Given the description of an element on the screen output the (x, y) to click on. 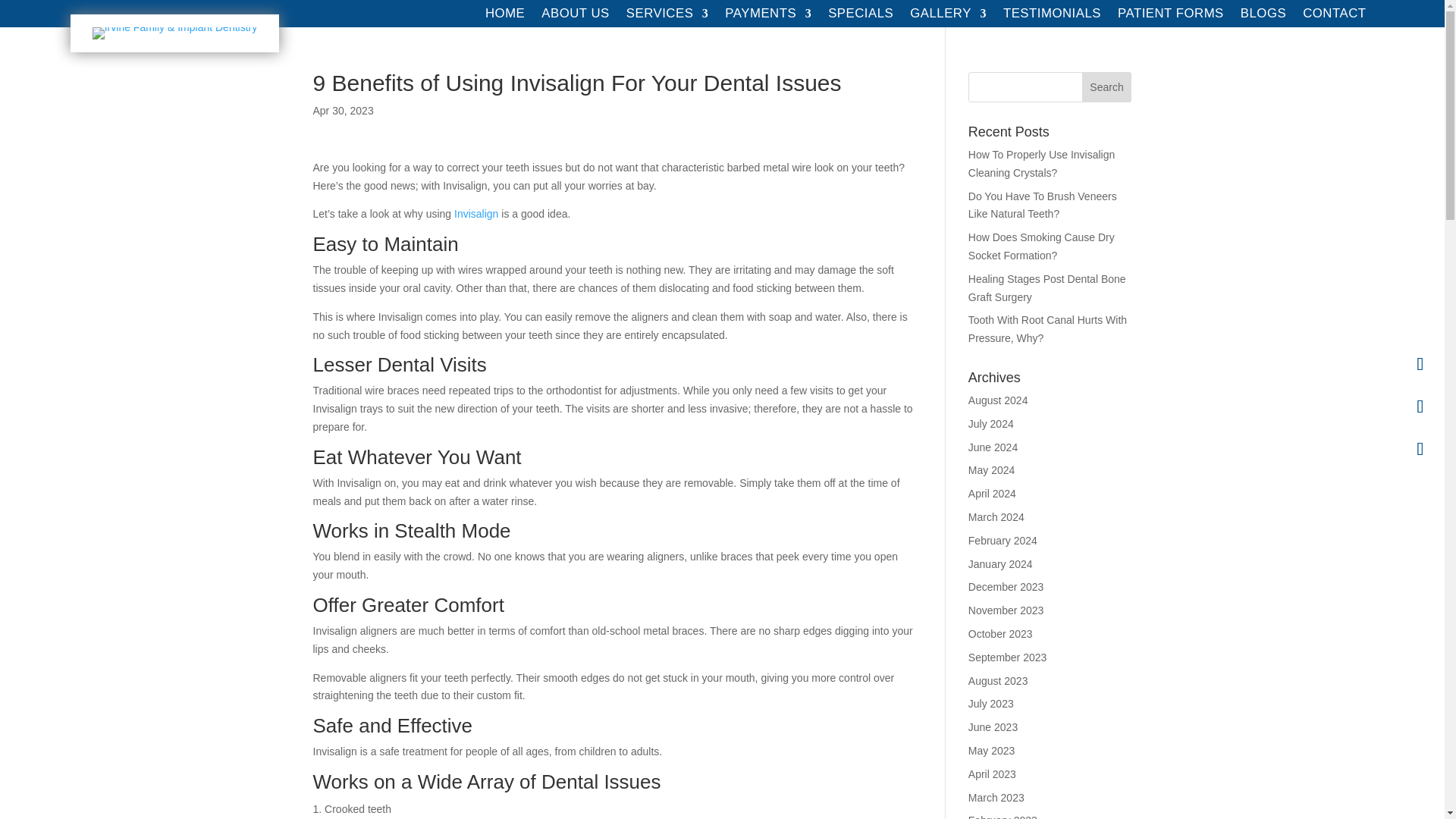
Search (1106, 87)
Follow on Instagram (1420, 448)
GALLERY (948, 16)
SPECIALS (860, 16)
How To Properly Use Invisalign Cleaning Crystals? (1041, 163)
Healing Stages Post Dental Bone Graft Surgery (1046, 287)
TESTIMONIALS (1051, 16)
PAYMENTS (767, 16)
Invisalign (475, 214)
Follow on Facebook (1420, 363)
